Given the description of an element on the screen output the (x, y) to click on. 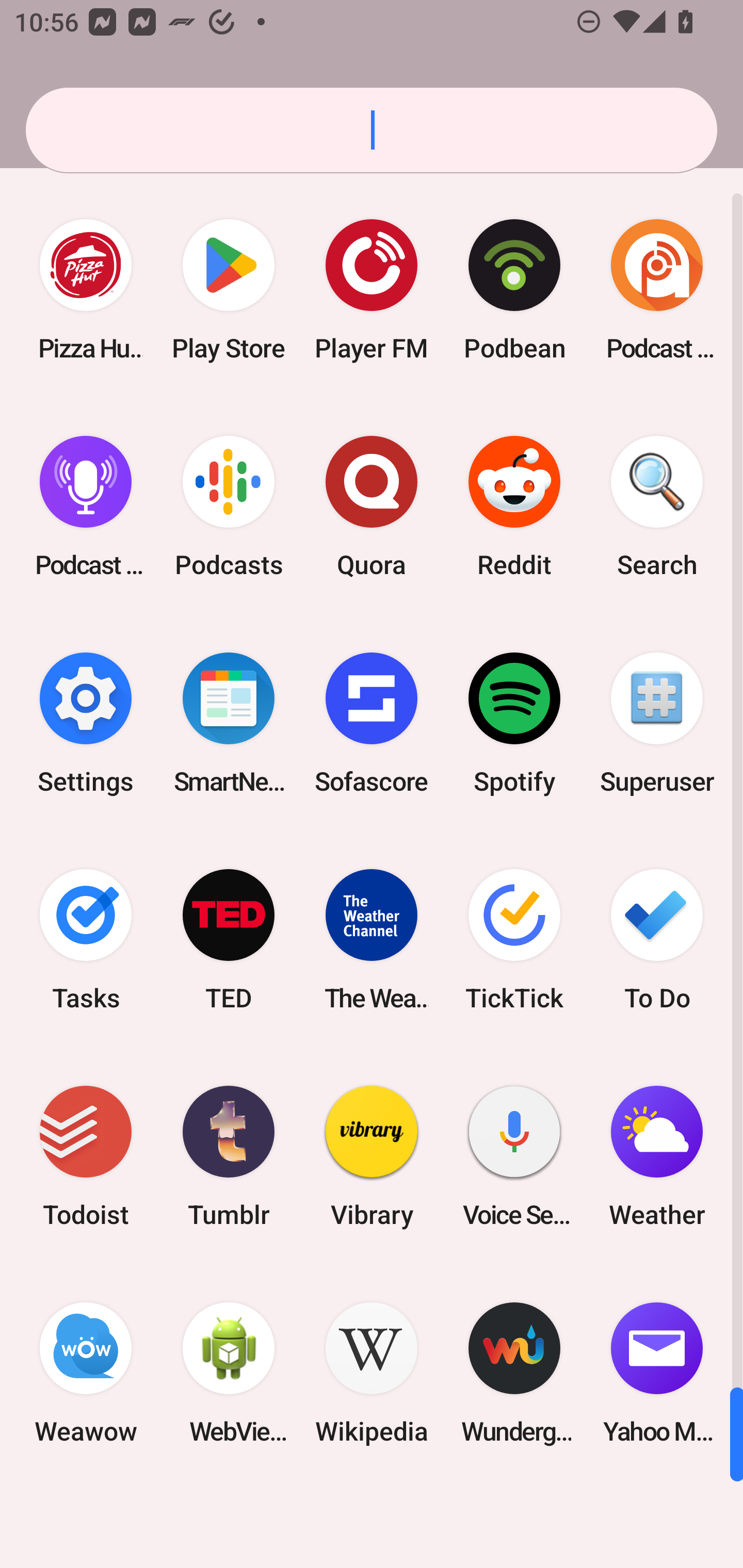
  Search apps (371, 130)
Pizza Hut HK & Macau (85, 289)
Play Store (228, 289)
Player FM (371, 289)
Podbean (514, 289)
Podcast Addict (656, 289)
Podcast Player (85, 506)
Podcasts (228, 506)
Quora (371, 506)
Reddit (514, 506)
Search (656, 506)
Settings (85, 722)
SmartNews (228, 722)
Sofascore (371, 722)
Spotify (514, 722)
Superuser (656, 722)
Tasks (85, 939)
TED (228, 939)
The Weather Channel (371, 939)
TickTick (514, 939)
To Do (656, 939)
Todoist (85, 1156)
Tumblr (228, 1156)
Vibrary (371, 1156)
Voice Search (514, 1156)
Weather (656, 1156)
Weawow (85, 1373)
WebView Browser Tester (228, 1373)
Wikipedia (371, 1373)
Wunderground (514, 1373)
Yahoo Mail (656, 1373)
